Given the description of an element on the screen output the (x, y) to click on. 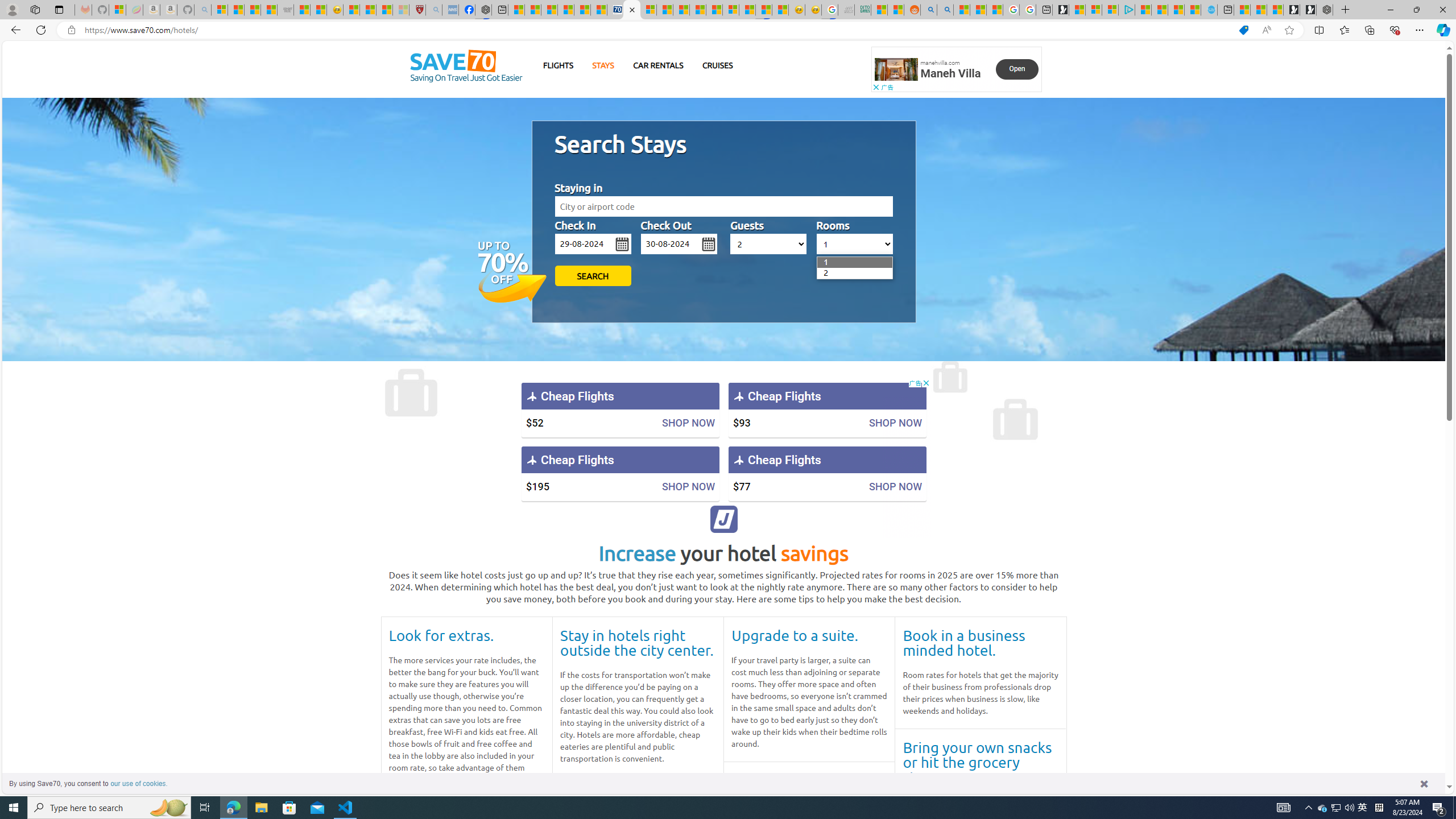
manehvilla.com (939, 62)
CAR RENTALS (657, 65)
FLIGHTS (558, 65)
